Given the description of an element on the screen output the (x, y) to click on. 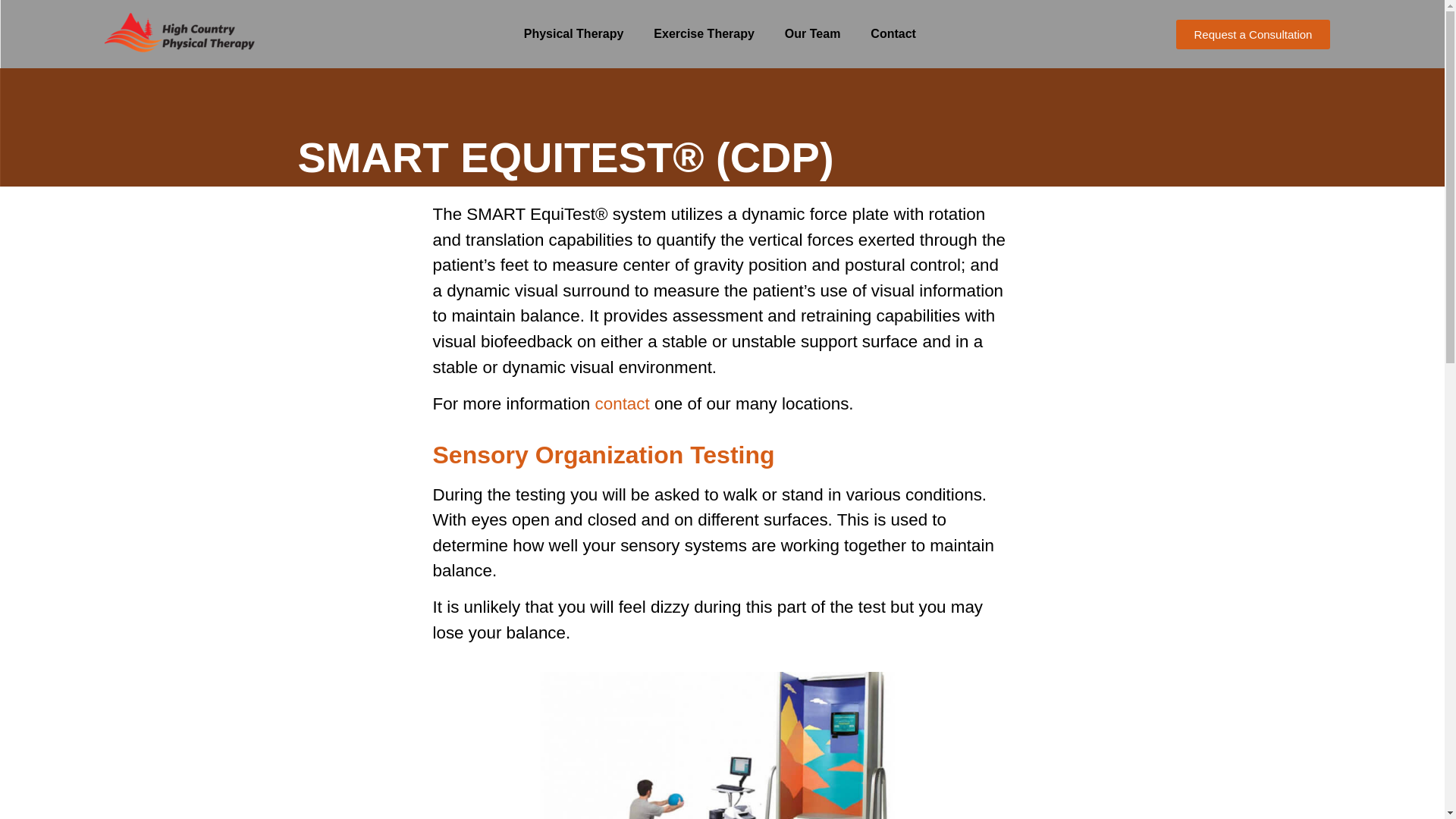
Request a Consultation (1253, 34)
Our Team (813, 33)
Physical Therapy (573, 33)
Exercise Therapy (704, 33)
contact (622, 403)
Contact (893, 33)
